Given the description of an element on the screen output the (x, y) to click on. 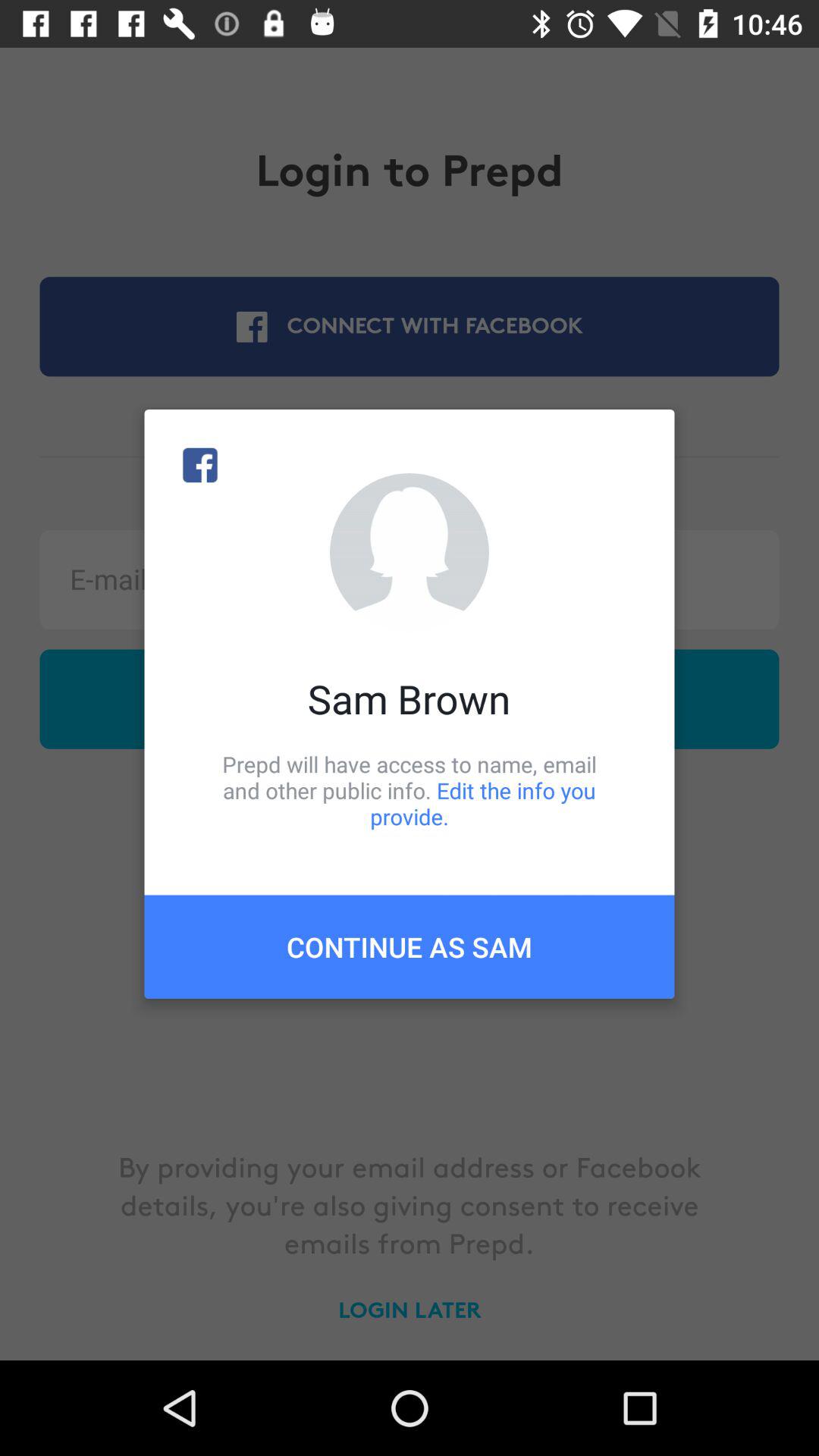
scroll to prepd will have item (409, 790)
